Given the description of an element on the screen output the (x, y) to click on. 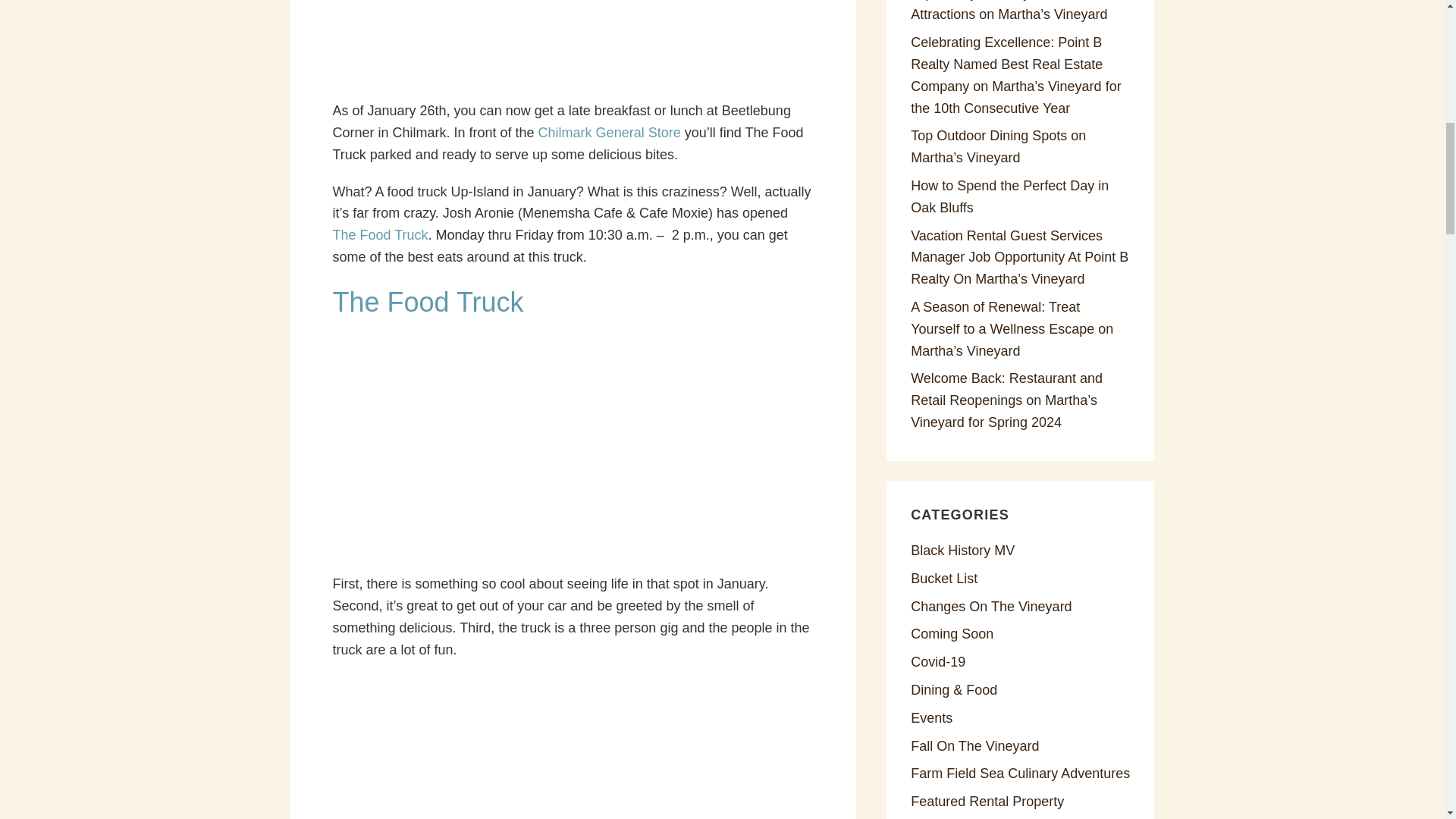
The Food Truck On Martha's Vineyard (426, 301)
Chilmark General Store (609, 132)
The Martha's Vineyard Food Truck Chilmark (573, 43)
